Given the description of an element on the screen output the (x, y) to click on. 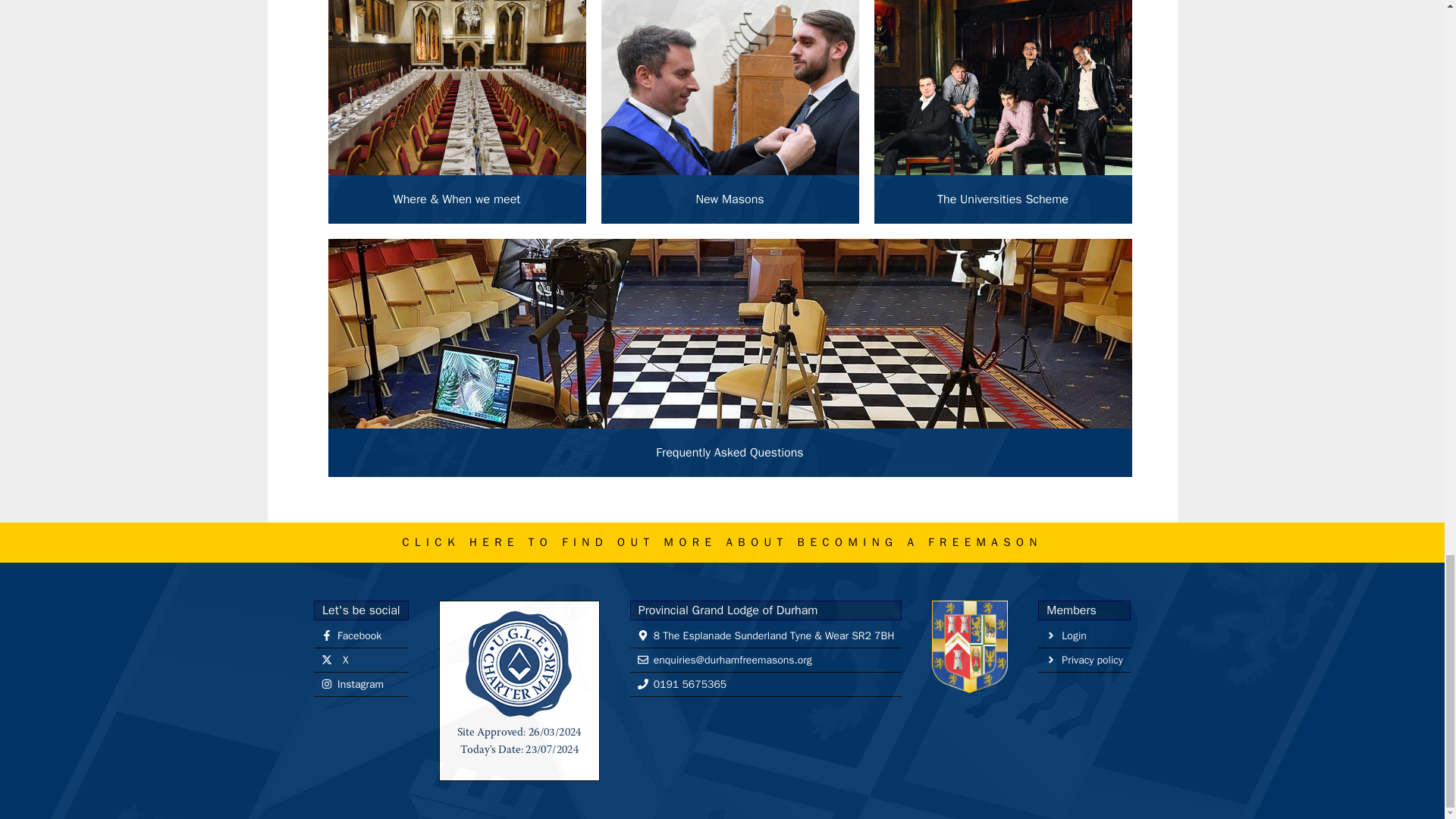
Durham Freemasons coat of arms (969, 646)
